Given the description of an element on the screen output the (x, y) to click on. 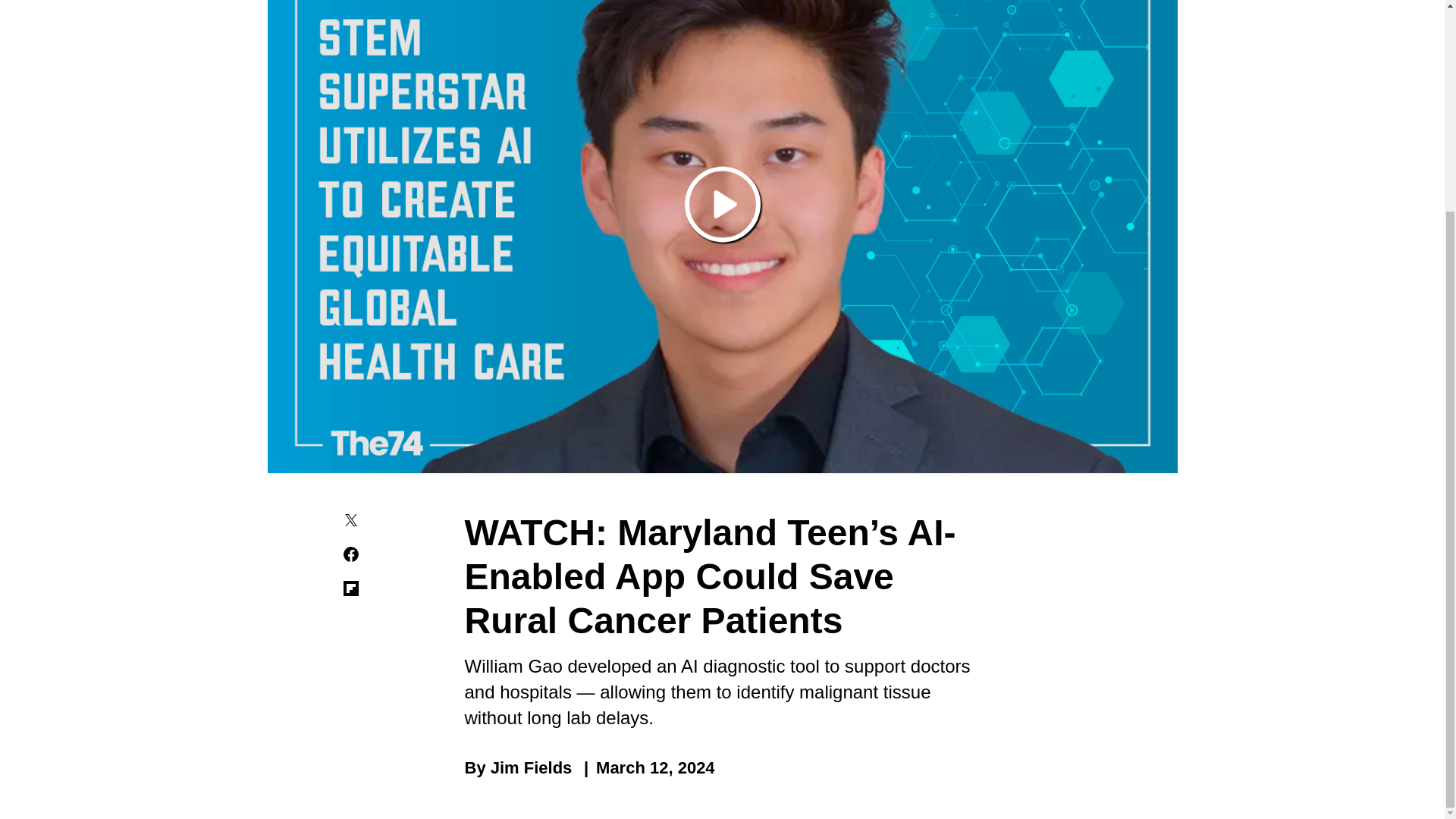
Research (650, 799)
News (328, 799)
March 12, 2024 (645, 767)
Critical Race Theory (781, 799)
